Given the description of an element on the screen output the (x, y) to click on. 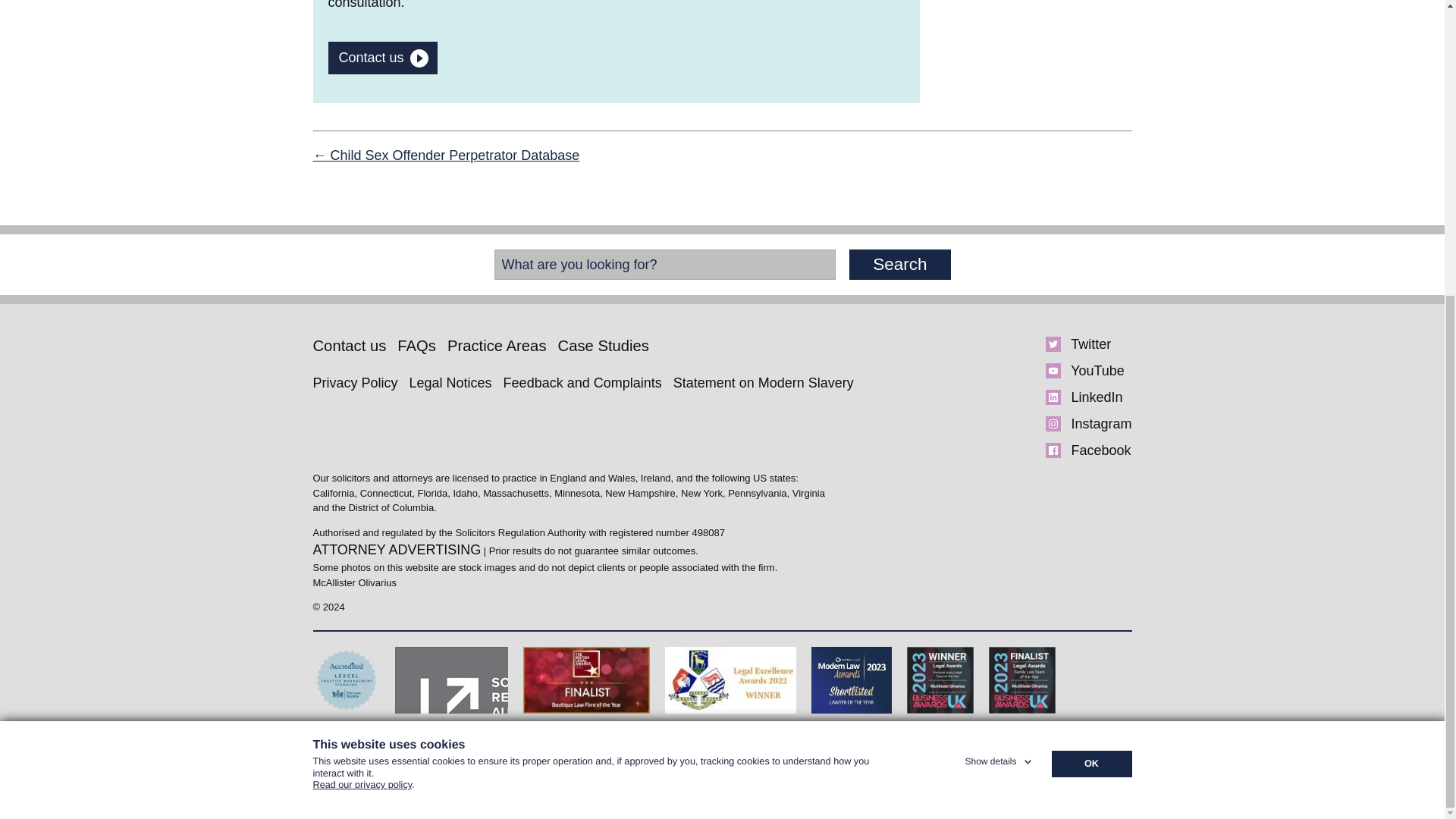
OK (1091, 309)
Read our privacy policy (362, 336)
Search (899, 264)
Show details (998, 304)
